Given the description of an element on the screen output the (x, y) to click on. 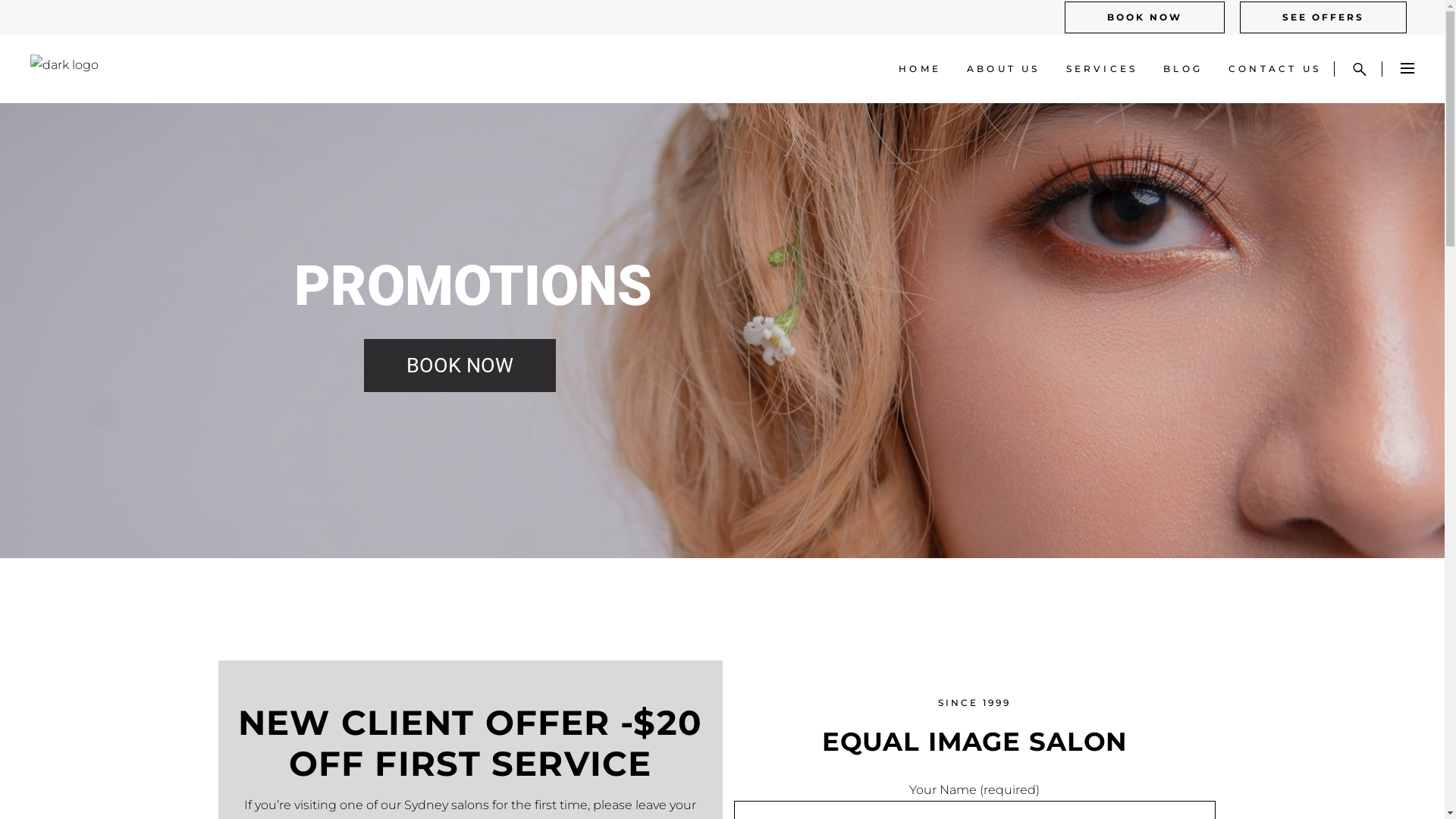
ABOUT US Element type: text (1003, 68)
SERVICES Element type: text (1102, 68)
SEE OFFERS Element type: text (1322, 17)
HOME Element type: text (919, 68)
BLOG Element type: text (1182, 68)
BOOK NOW Element type: text (1144, 17)
CONTACT US Element type: text (1274, 68)
